Given the description of an element on the screen output the (x, y) to click on. 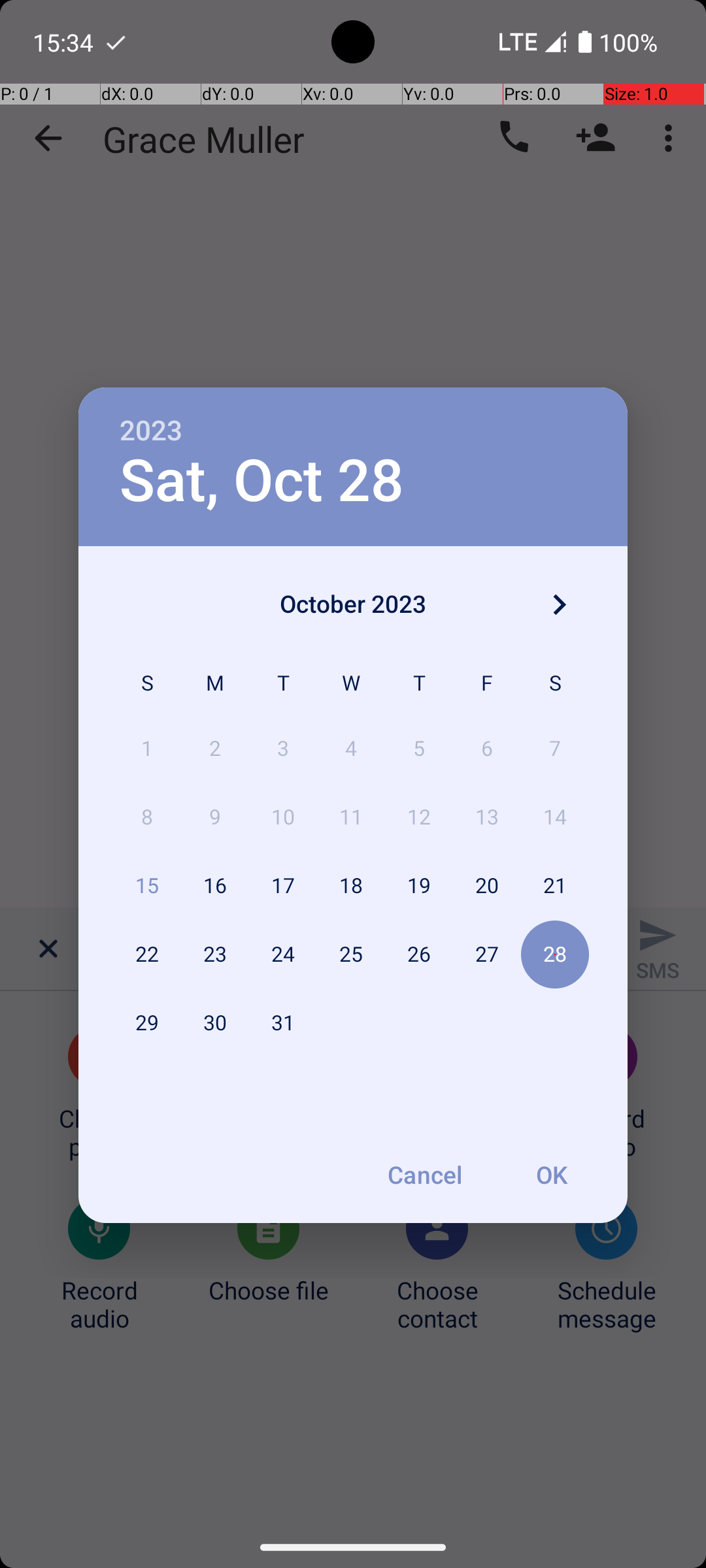
Sat, Oct 28 Element type: android.widget.TextView (261, 480)
